Given the description of an element on the screen output the (x, y) to click on. 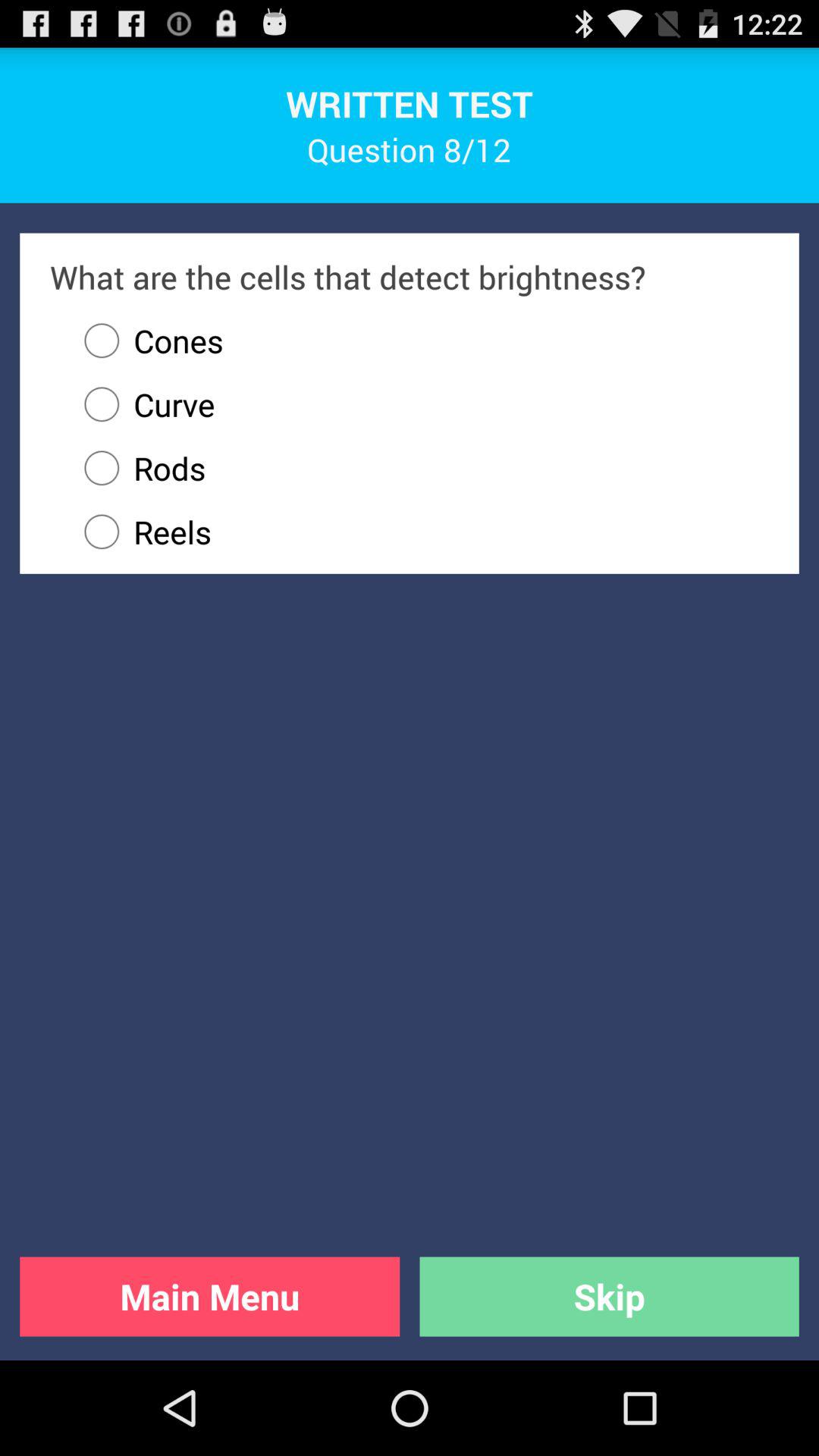
click rods radio button (418, 467)
